Given the description of an element on the screen output the (x, y) to click on. 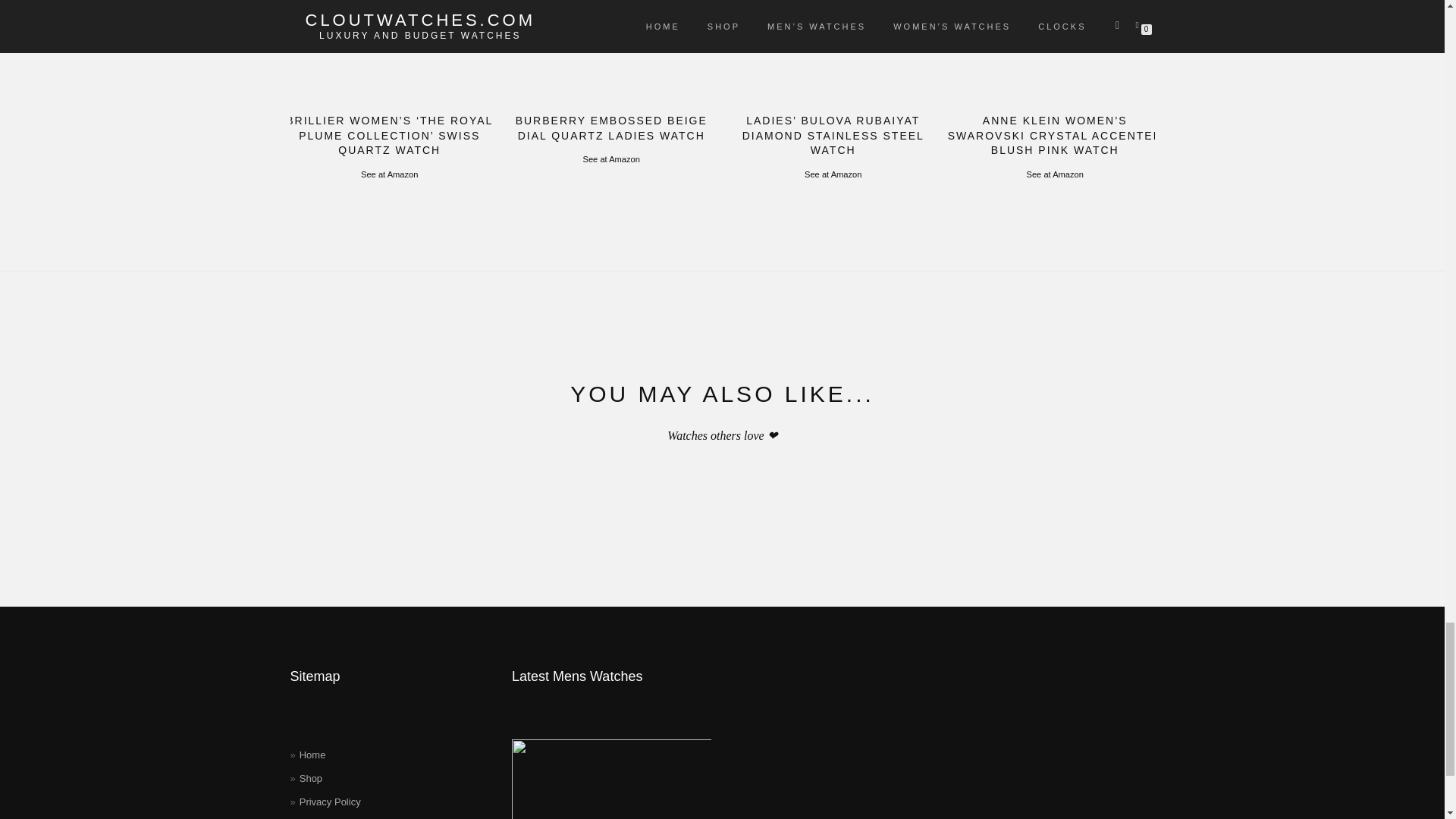
See at Amazon (389, 174)
BURBERRY EMBOSSED BEIGE DIAL QUARTZ LADIES WATCH (611, 81)
Ladies' Bulova Rubaiyat Diamond Stainless Steel Watch 96P184 (832, 49)
